Given the description of an element on the screen output the (x, y) to click on. 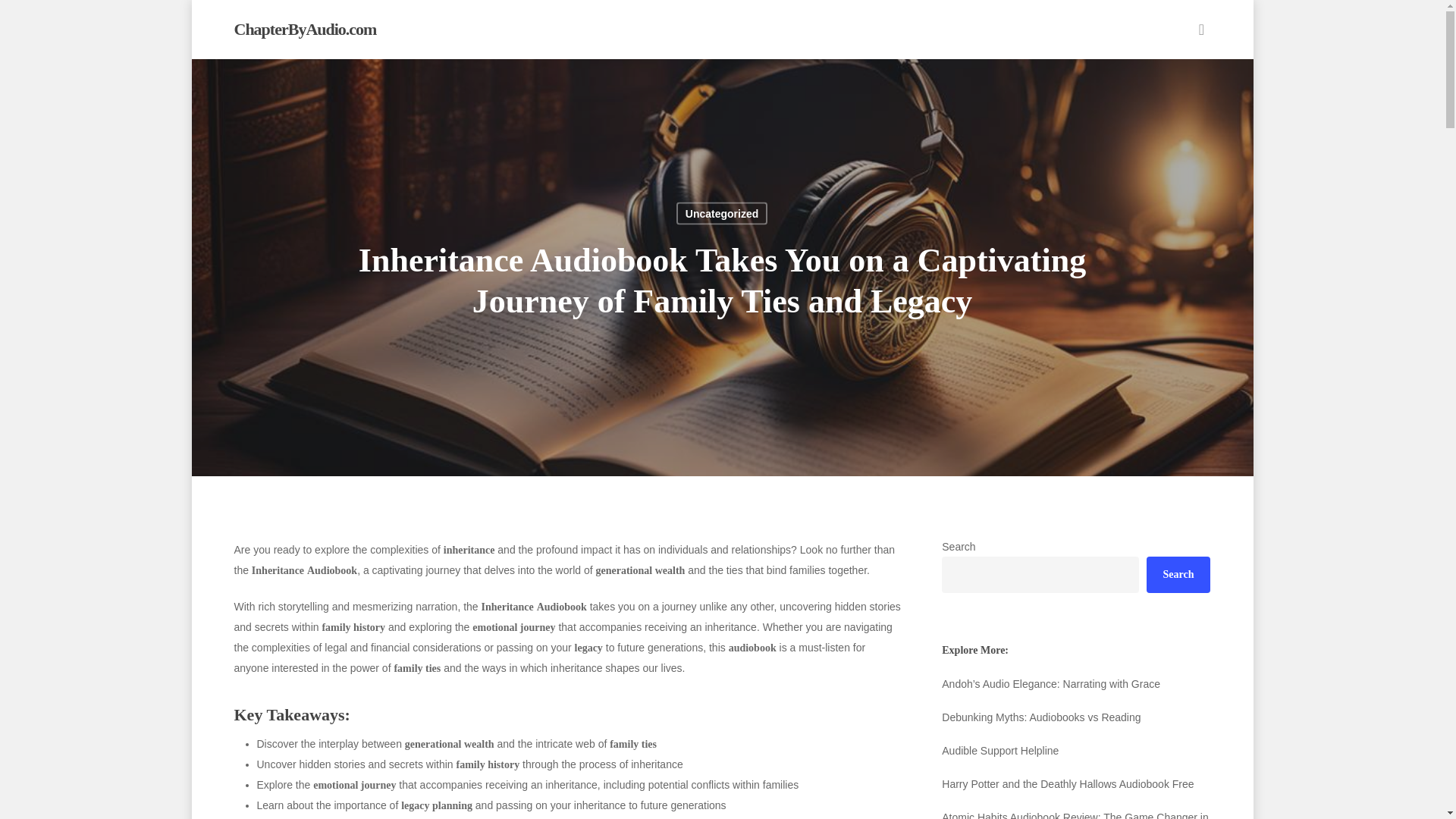
Audible Support Helpline (1075, 750)
ChapterByAudio.com (303, 29)
search (1200, 28)
Uncategorized (722, 212)
Search (1179, 574)
Harry Potter and the Deathly Hallows Audiobook Free (1075, 783)
Debunking Myths: Audiobooks vs Reading (1075, 717)
